Given the description of an element on the screen output the (x, y) to click on. 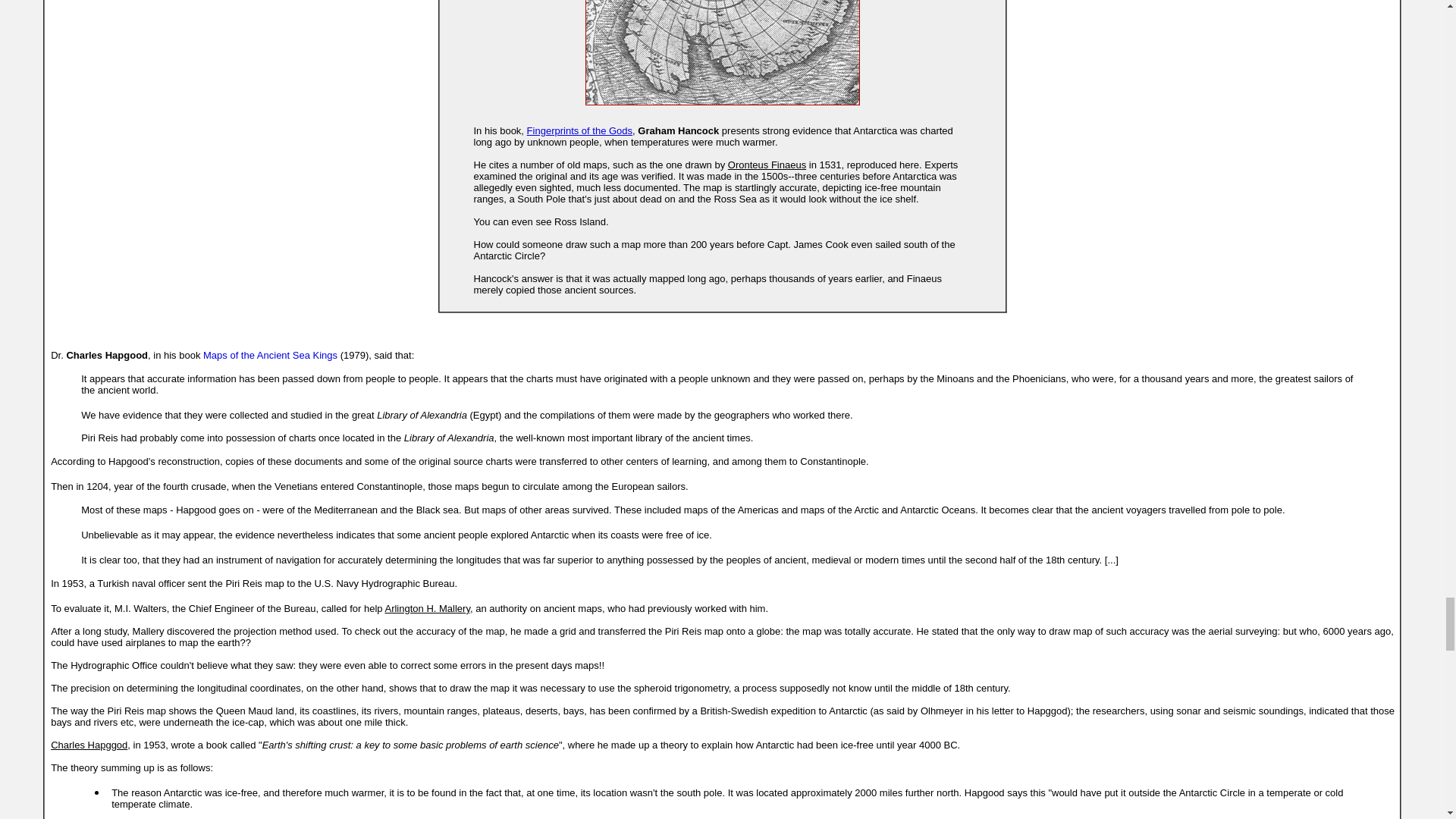
Fingerprints of the Gods (579, 130)
Maps of the Ancient Sea Kings (270, 355)
